Given the description of an element on the screen output the (x, y) to click on. 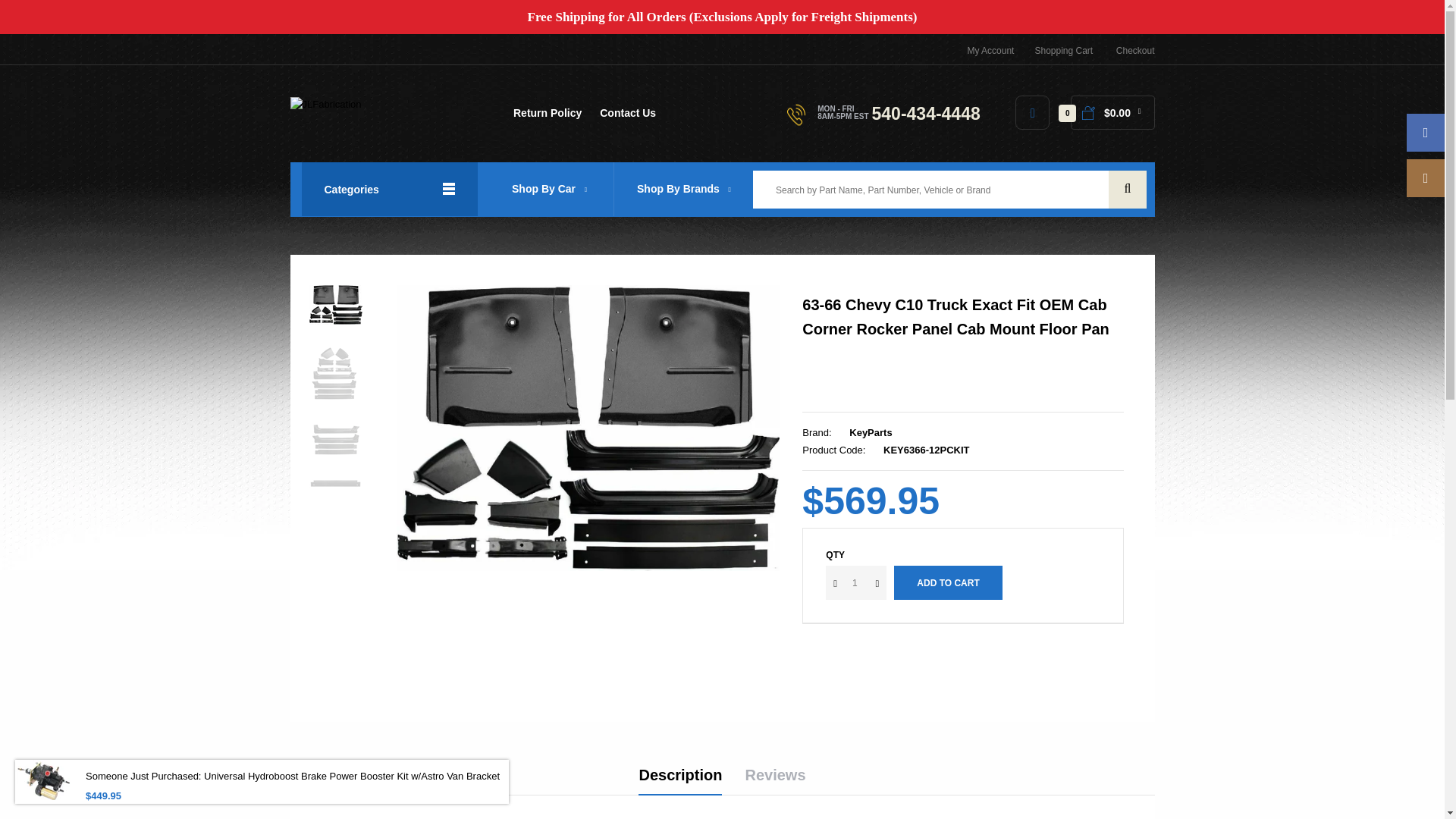
Contact Us (628, 118)
Checkout (1135, 50)
Return Policy (547, 118)
Add to cart (947, 582)
JLFabrication (325, 105)
My Account (989, 50)
1 (855, 582)
Shopping Cart (1063, 50)
KeyParts (869, 432)
JLFabrication (325, 103)
